Given the description of an element on the screen output the (x, y) to click on. 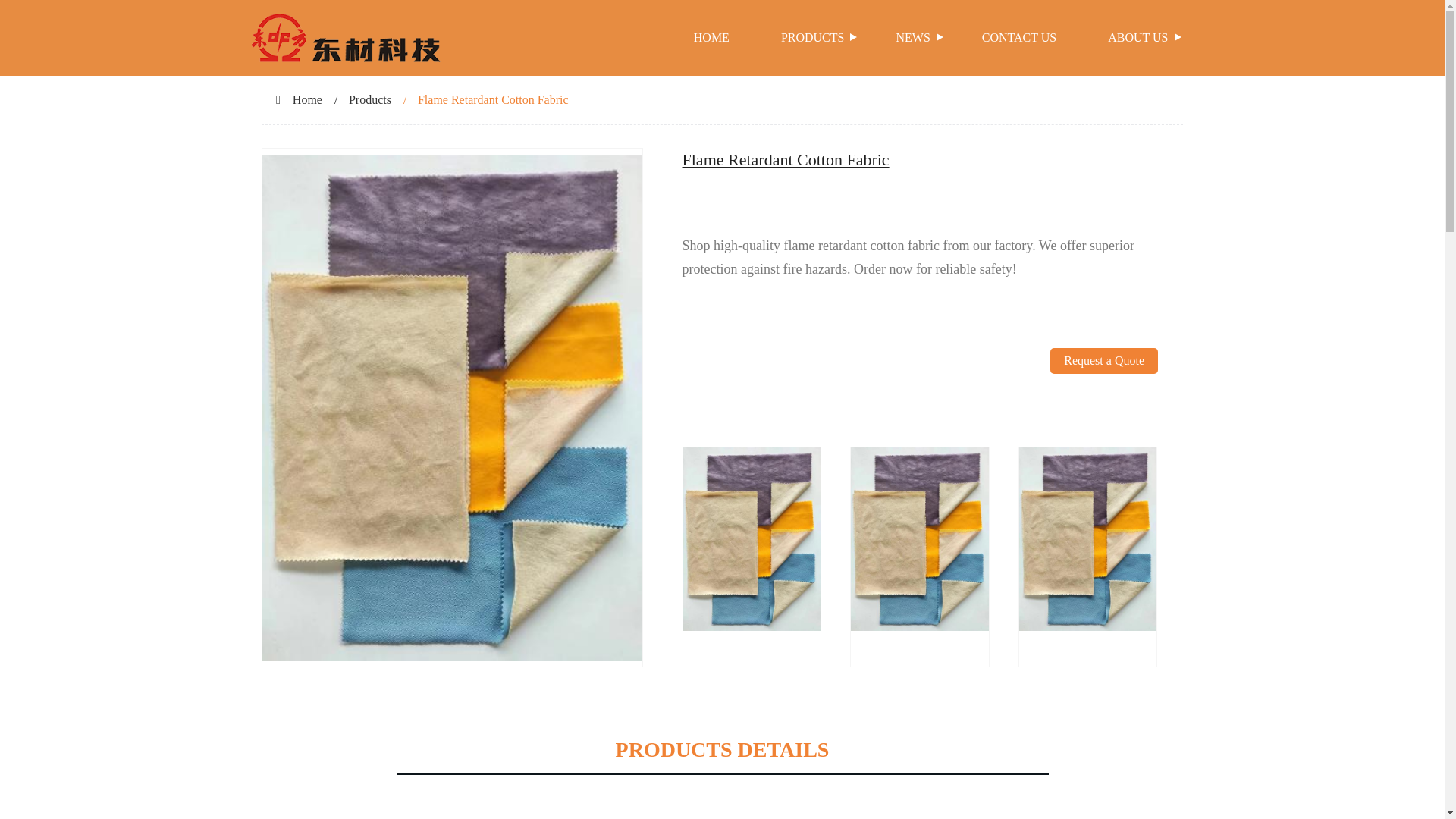
CONTACT US (1018, 38)
Request a Quote (1103, 396)
PRODUCTS (812, 38)
Products (370, 99)
Home (306, 99)
